Given the description of an element on the screen output the (x, y) to click on. 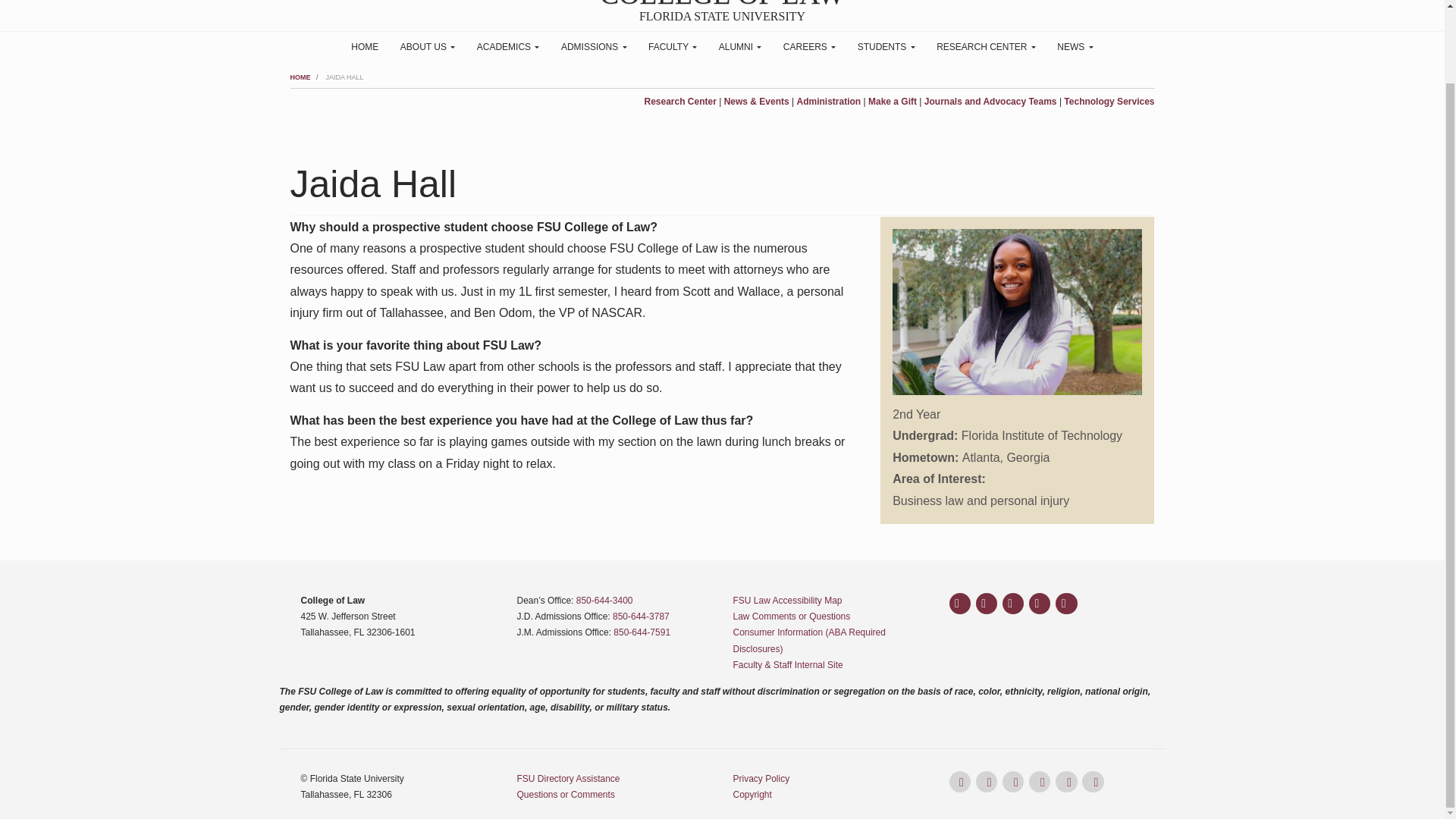
Faculty and staff site (787, 665)
Consumer Information (808, 640)
Like Florida State on Facebook (960, 603)
Follow Florida State on Youtube (1039, 603)
Connect with Florida State on LinkedIn (1066, 603)
Follow Florida State on Instagram (986, 603)
Follow Florida State on Twitter (1013, 603)
